Given the description of an element on the screen output the (x, y) to click on. 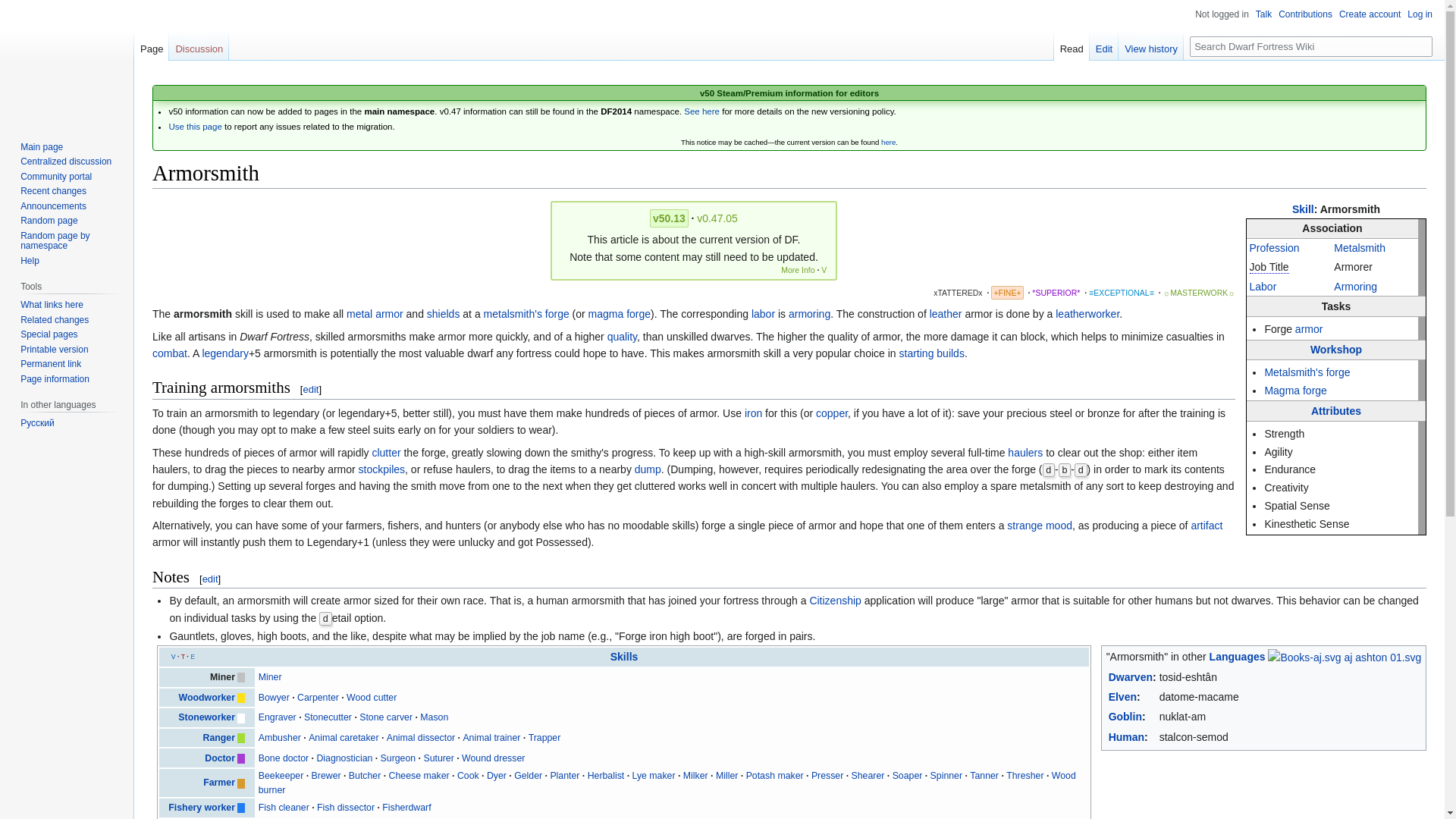
leatherworker (1087, 313)
Dwarf Fortress Wiki talk:Versions (194, 126)
Go (1422, 46)
magma forge (619, 313)
Armoring (1355, 286)
Workshop (1335, 349)
Metalsmith's forge (1306, 372)
Dwarf Fortress Wiki:V (701, 111)
Metalsmith (1359, 247)
Magma forge (1294, 390)
See here (701, 111)
Labor (1262, 286)
Skill (1303, 209)
shields (443, 313)
